Given the description of an element on the screen output the (x, y) to click on. 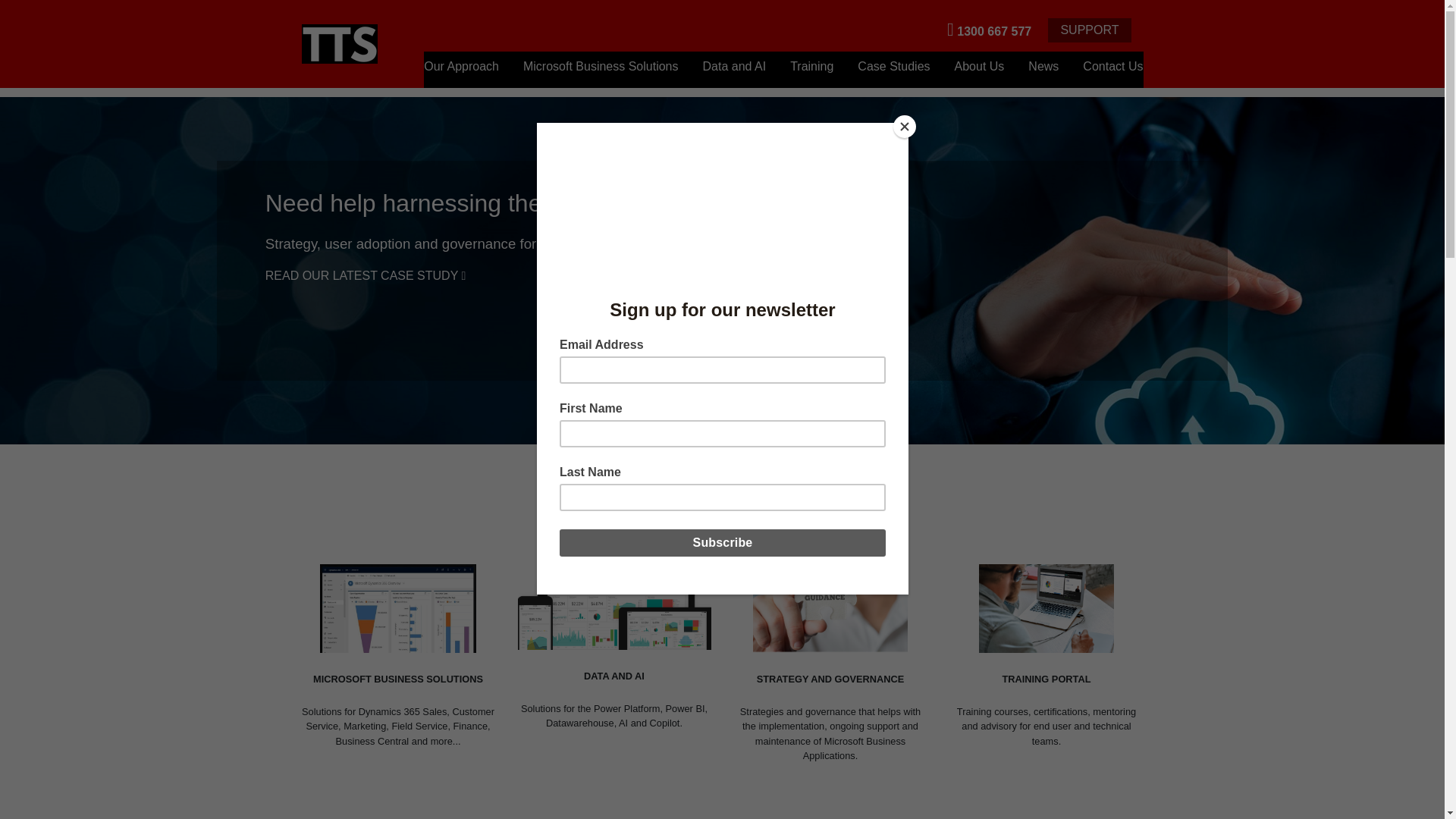
Microsoft Business Solutions (600, 69)
SUPPORT (1088, 30)
Our Approach (461, 69)
Data and AI (735, 69)
1300 667 577 (988, 29)
